Given the description of an element on the screen output the (x, y) to click on. 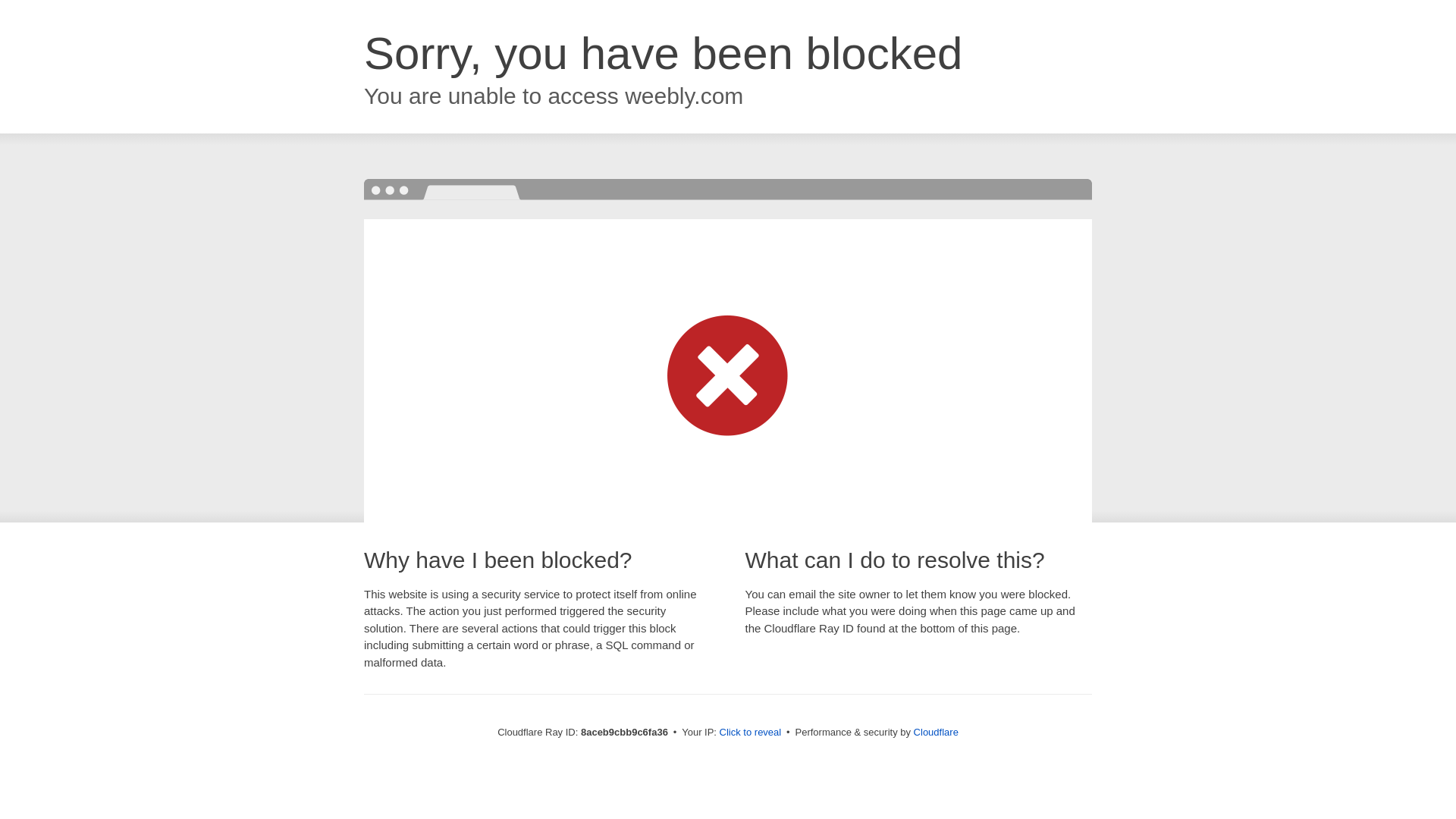
Cloudflare (936, 731)
Click to reveal (750, 732)
